Given the description of an element on the screen output the (x, y) to click on. 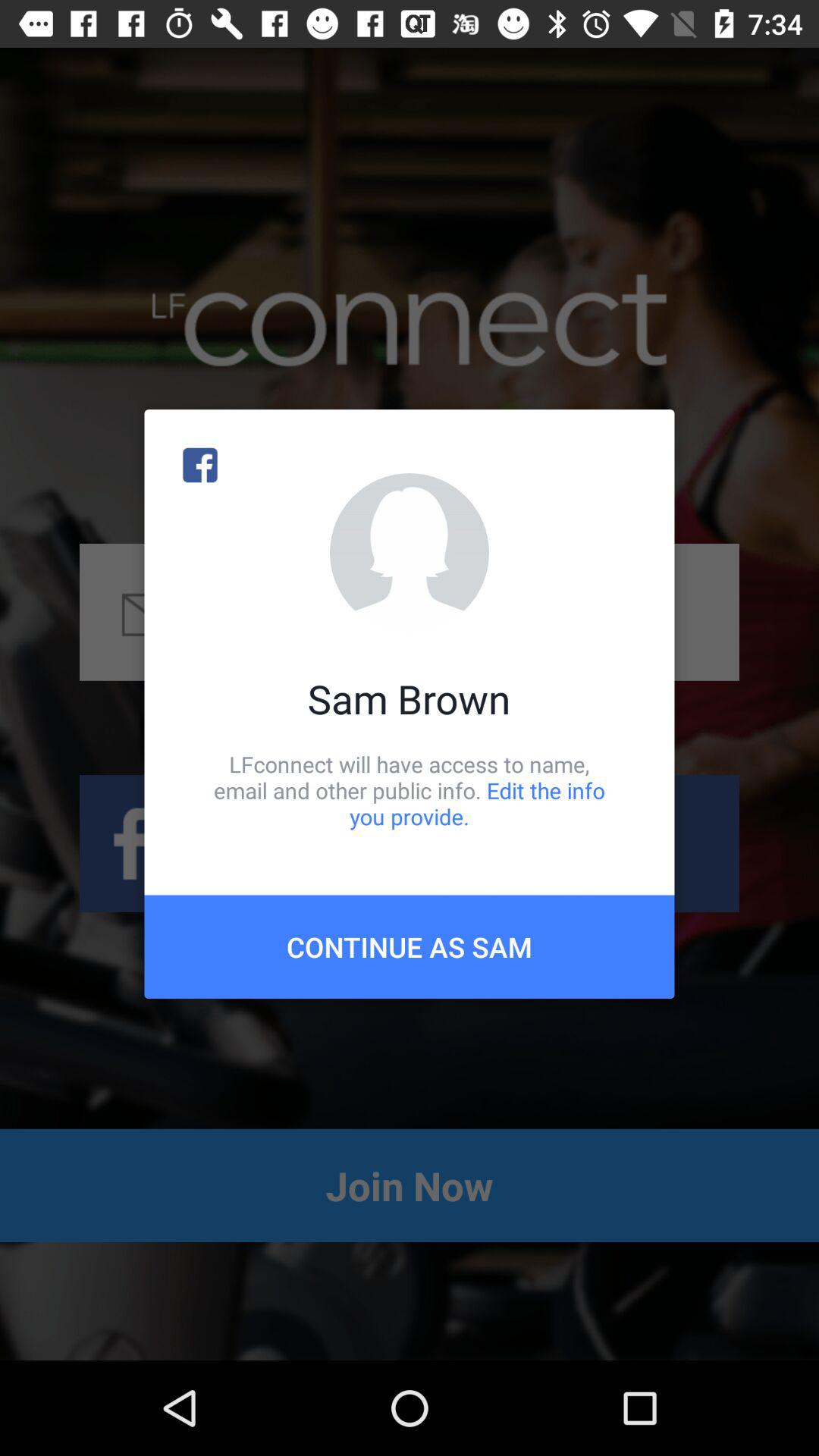
click lfconnect will have (409, 790)
